Given the description of an element on the screen output the (x, y) to click on. 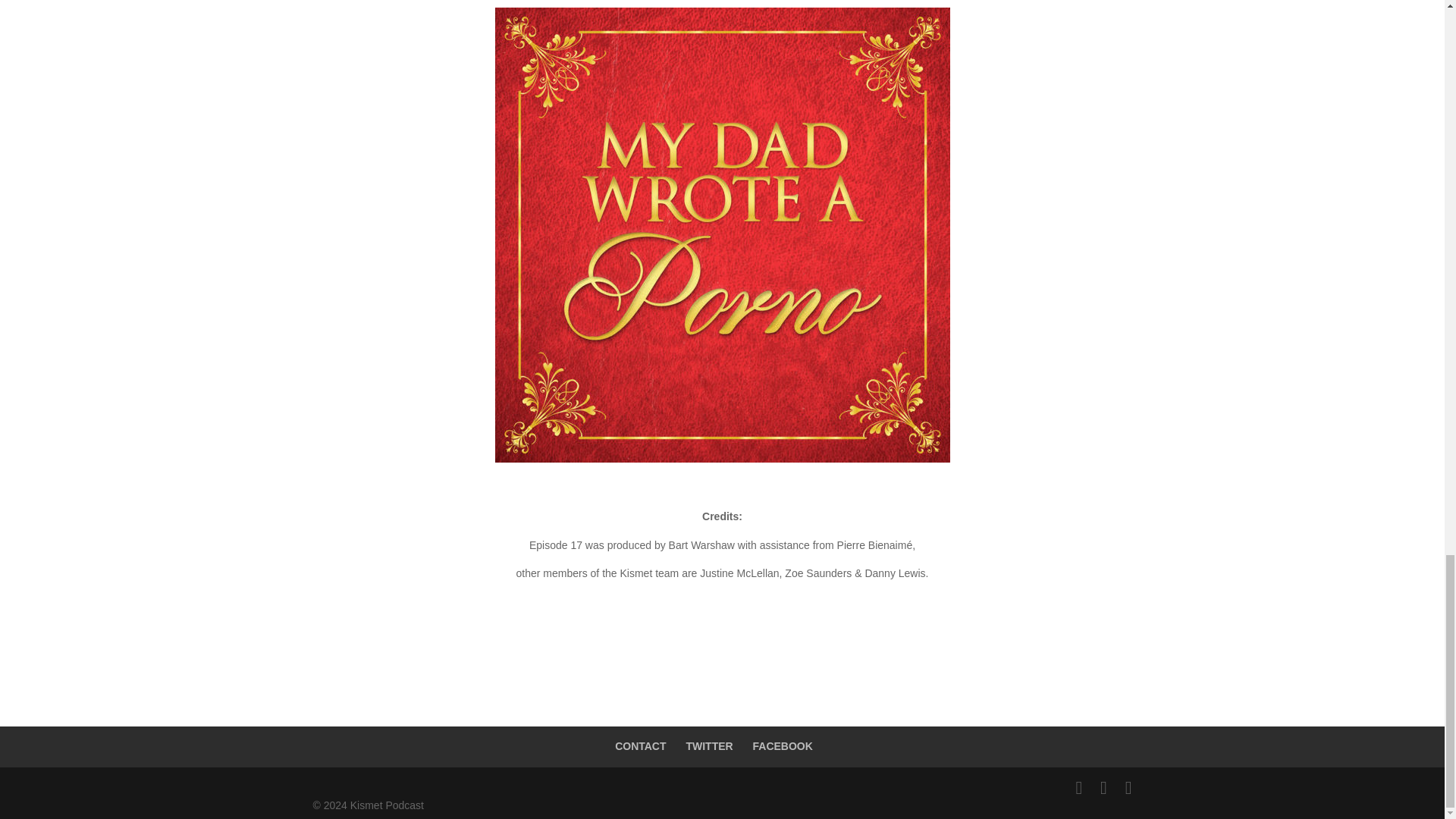
FACEBOOK (782, 746)
CONTACT (639, 746)
TWITTER (708, 746)
